Given the description of an element on the screen output the (x, y) to click on. 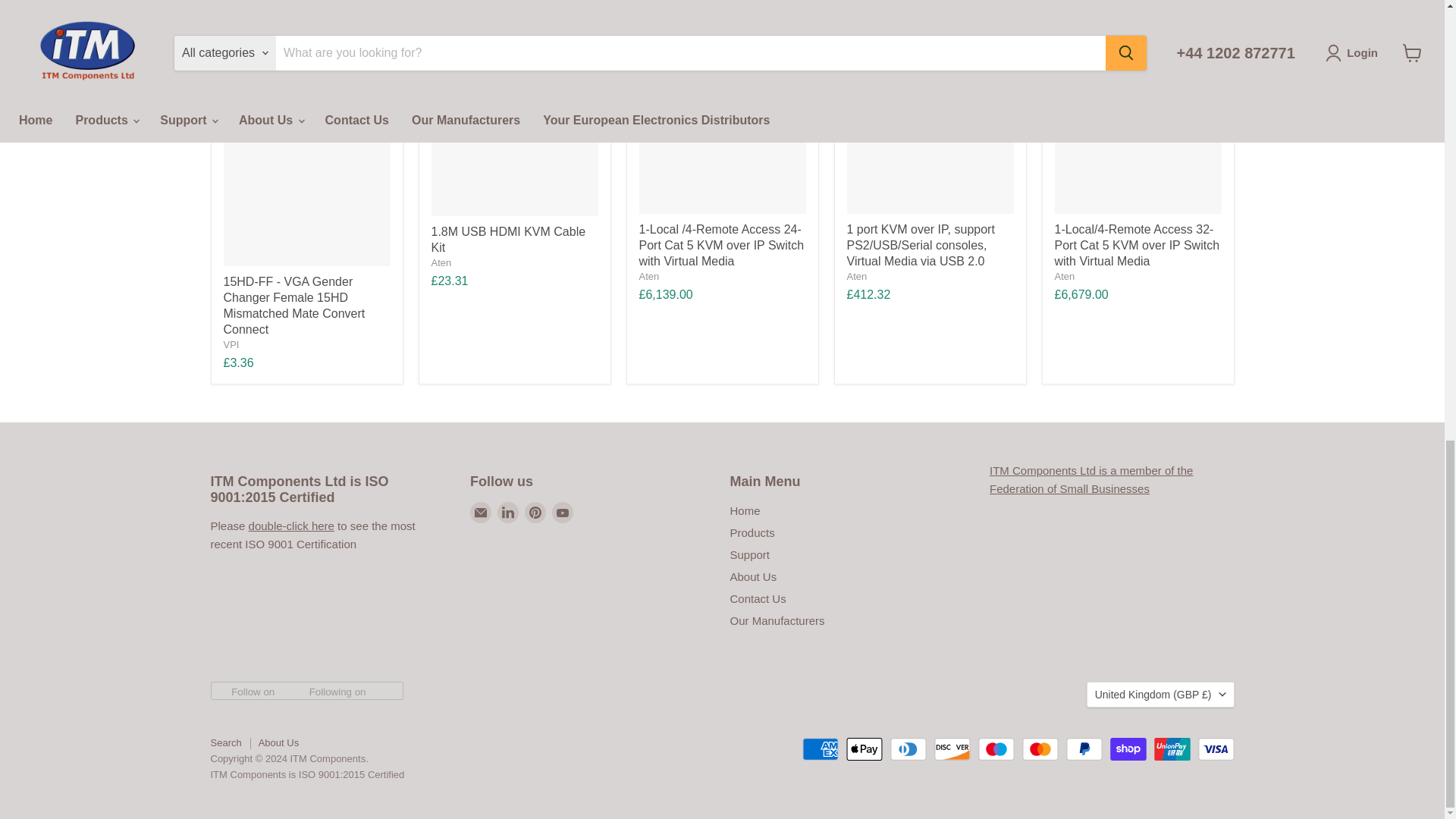
Aten (1064, 276)
Aten (440, 262)
Aten (649, 276)
Aten (855, 276)
VPI (230, 344)
ISO (291, 525)
